Given the description of an element on the screen output the (x, y) to click on. 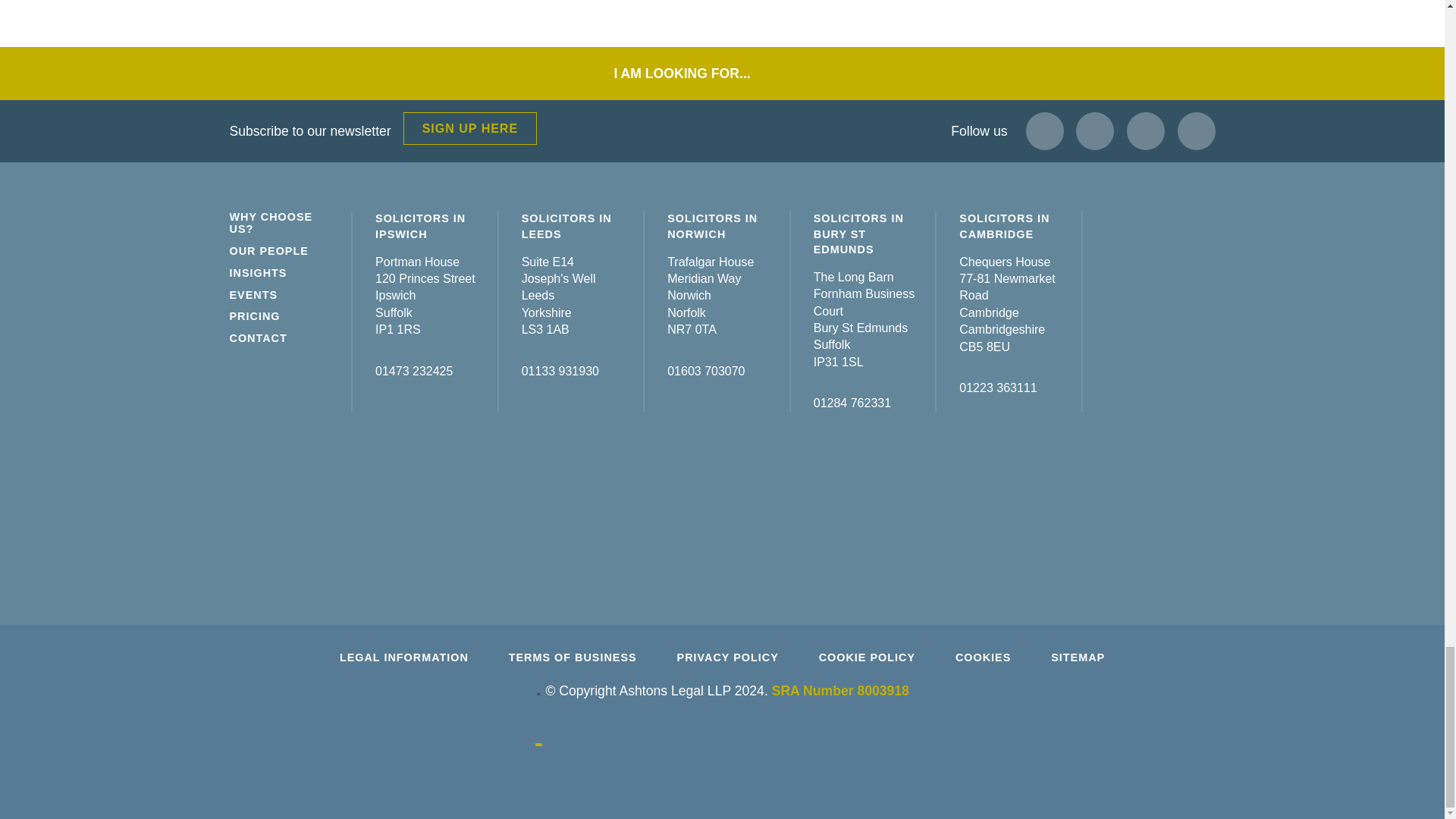
Search the site (761, 72)
